Given the description of an element on the screen output the (x, y) to click on. 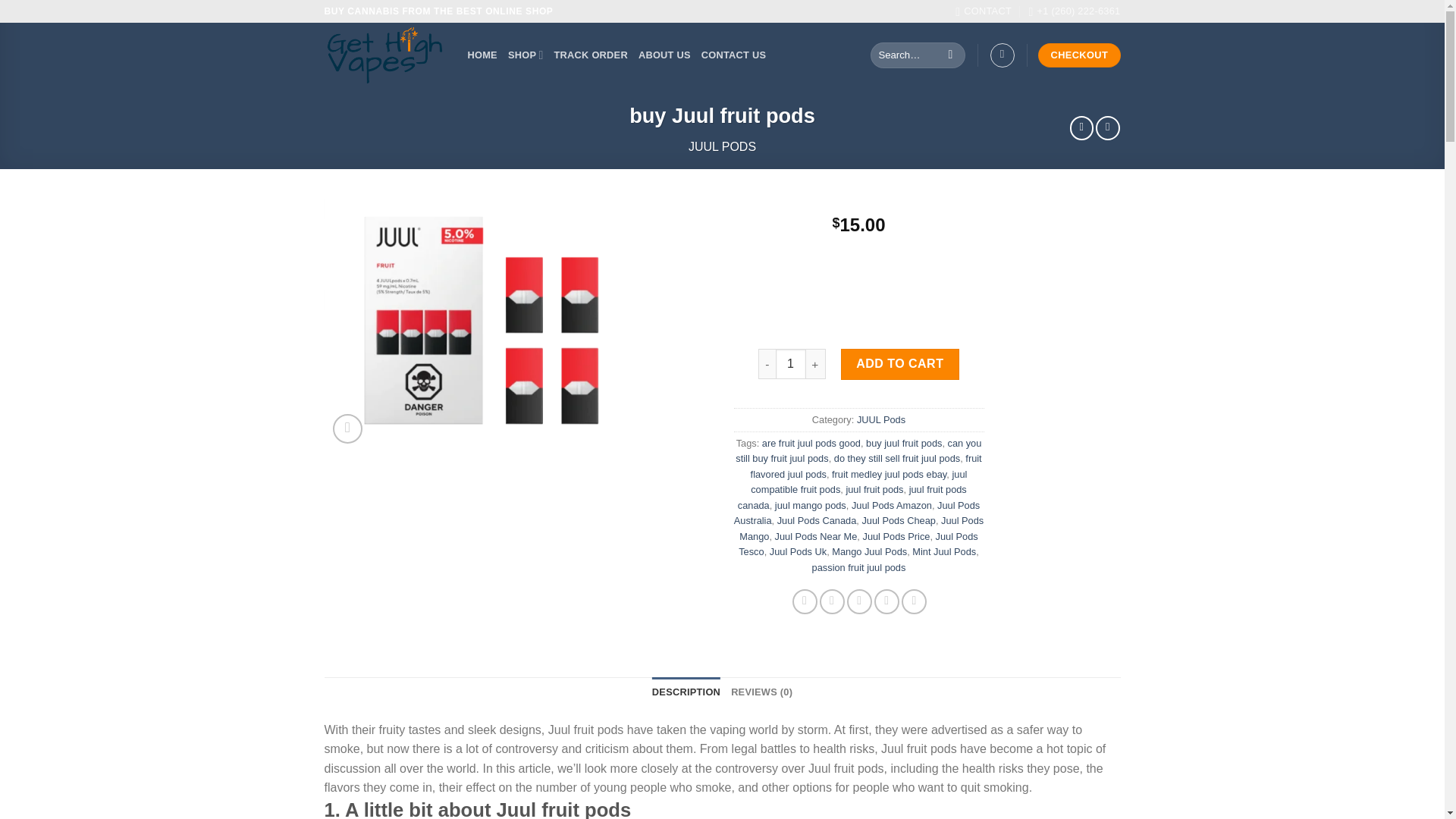
juul fruit pods (873, 489)
fruit medley juul pods ebay (888, 473)
JUUL Fruit Pods (483, 325)
Search (949, 54)
CONTACT US (734, 55)
buy juul fruit pods (904, 442)
fruit flavored juul pods (866, 465)
JUUL Pods (881, 419)
1 (791, 363)
Qty (791, 363)
